Given the description of an element on the screen output the (x, y) to click on. 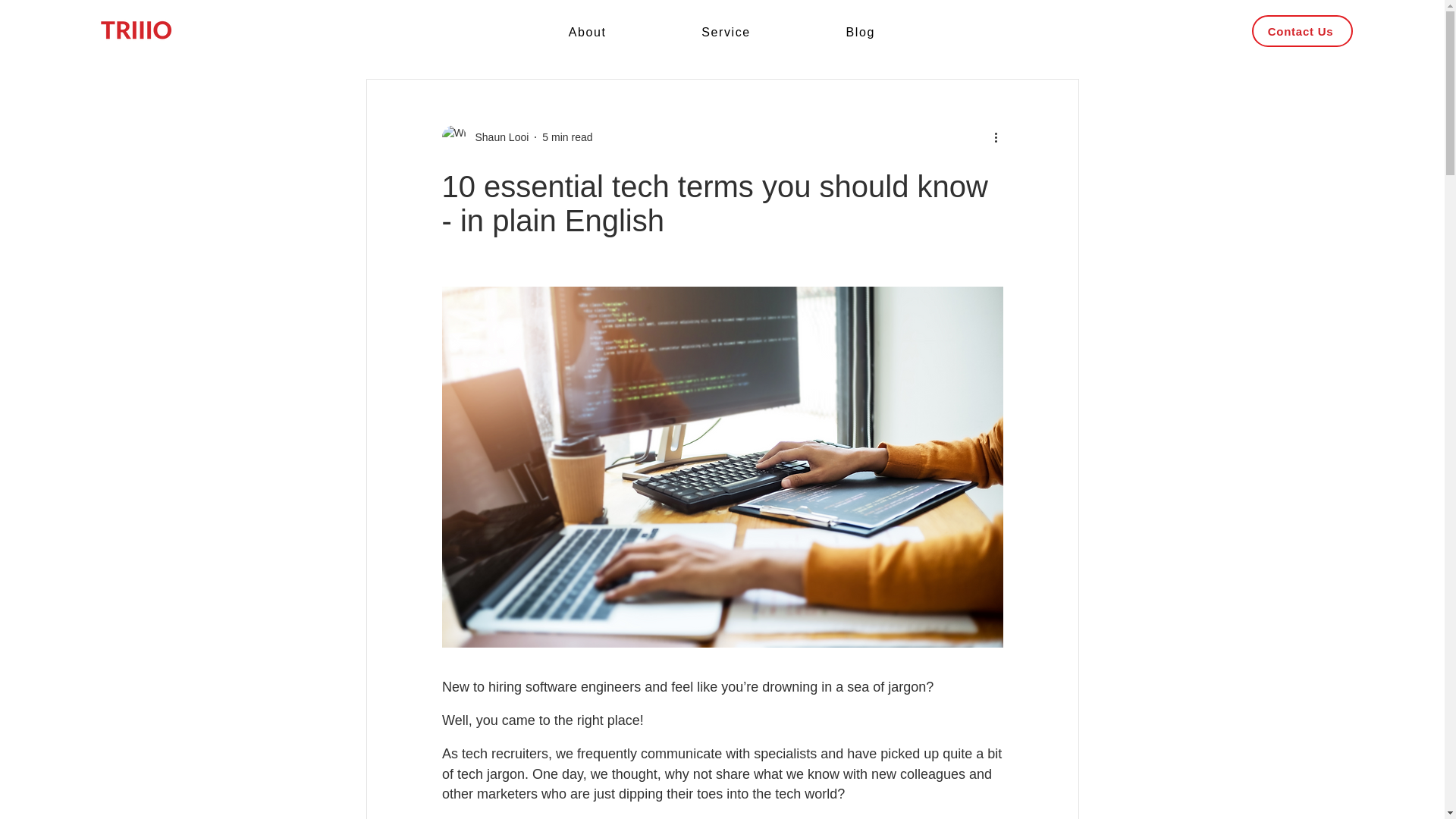
Shaun Looi (496, 136)
About (587, 33)
Service (725, 33)
5 min read (566, 136)
Blog (861, 33)
Contact Us (1301, 30)
